Given the description of an element on the screen output the (x, y) to click on. 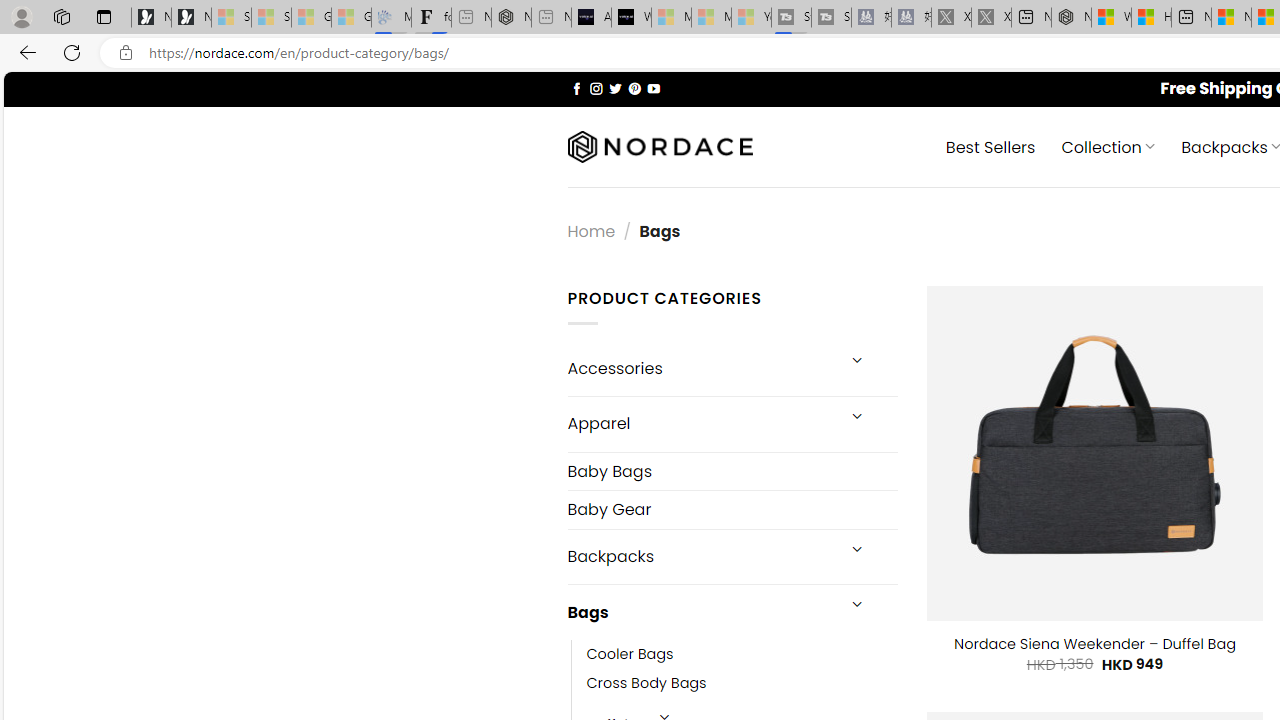
Baby Gear (732, 509)
Home (591, 230)
Streaming Coverage | T3 - Sleeping (791, 17)
Follow on Instagram (596, 88)
Baby Gear (732, 510)
Baby Bags (732, 470)
New tab - Sleeping (551, 17)
Baby Bags (732, 471)
AI Voice Changer for PC and Mac - Voice.ai (591, 17)
Cross Body Bags (742, 683)
